Given the description of an element on the screen output the (x, y) to click on. 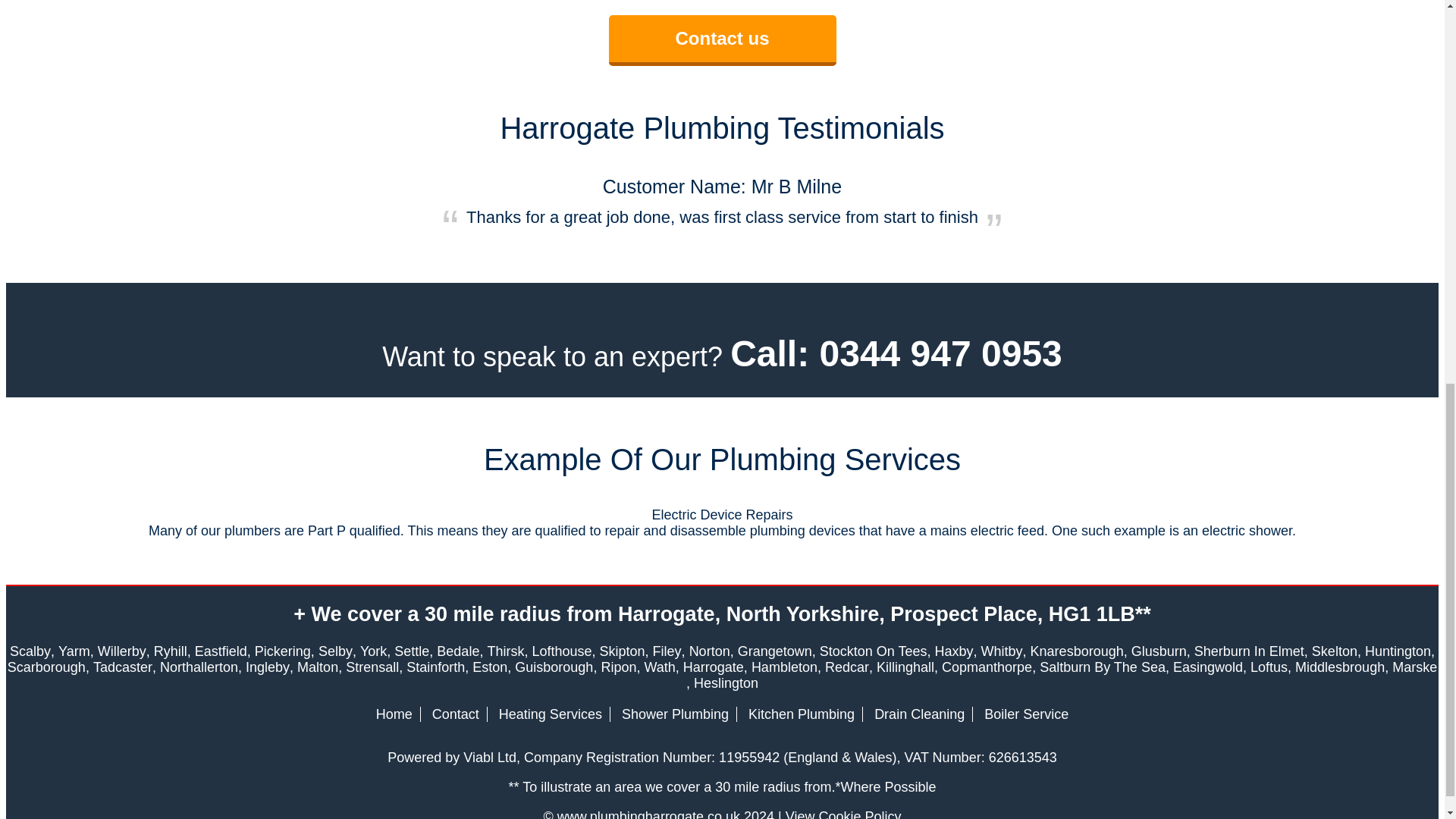
Boiler Service (1026, 713)
Contact (455, 713)
Home (393, 713)
Contact Us (455, 713)
Shower Plumbing (675, 713)
Kitchen Plumbing (801, 713)
Contact us (721, 39)
Kitchen Plumbing (801, 713)
0344 947 0953 (939, 353)
Boiler Service (1026, 713)
Drain Cleaning (919, 713)
Shower Plumbing (675, 713)
Drain Cleaning (919, 713)
Heating Services (550, 713)
Homepage (393, 713)
